Given the description of an element on the screen output the (x, y) to click on. 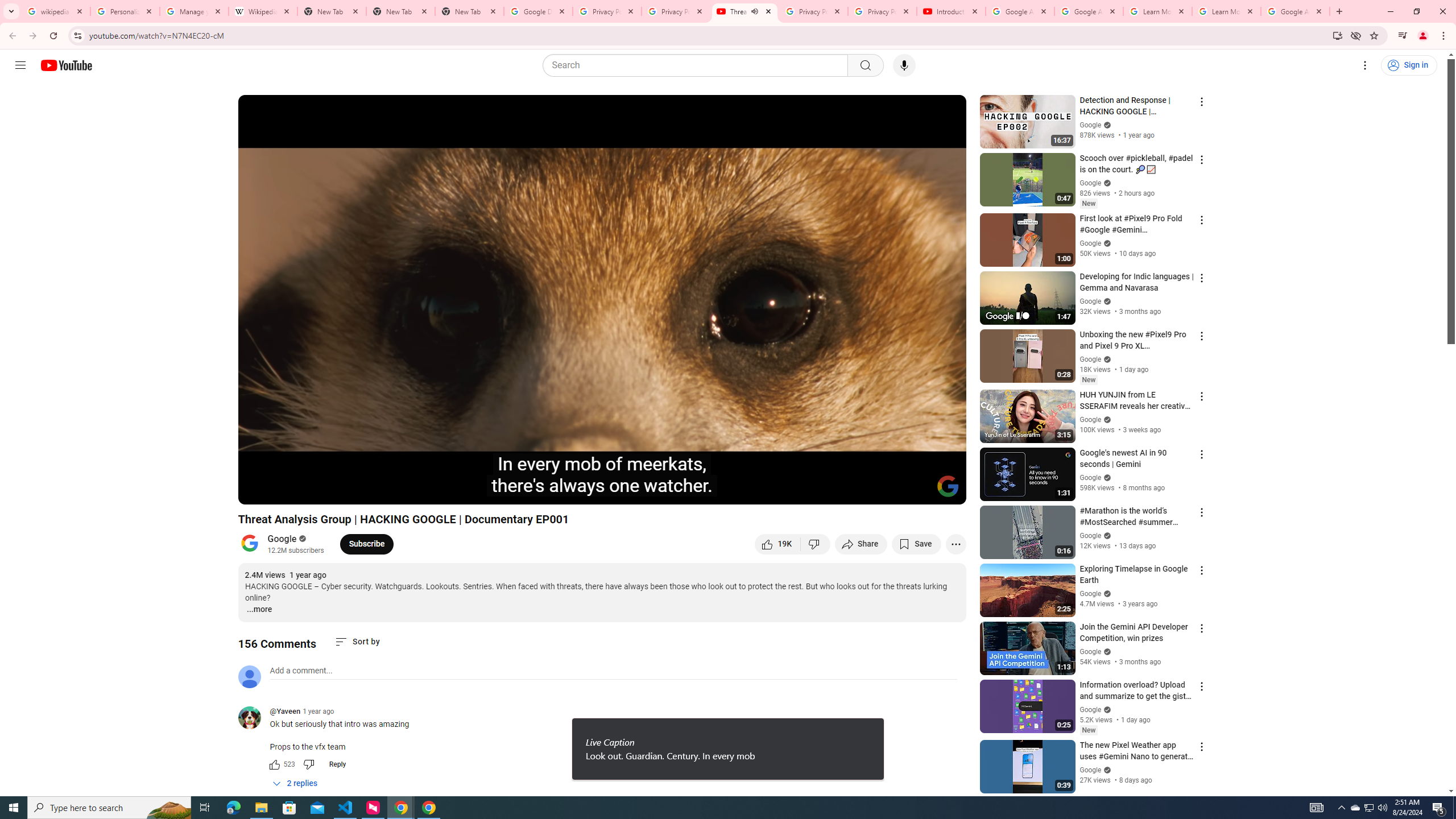
Google Account (1295, 11)
like this video along with 19,267 other people (777, 543)
Like this comment along with 523 other people (273, 764)
Next (SHIFT+n) (284, 490)
Channel watermark (947, 486)
More actions (955, 543)
Dislike this video (815, 543)
Search with your voice (903, 65)
Mute (m) (312, 490)
